Given the description of an element on the screen output the (x, y) to click on. 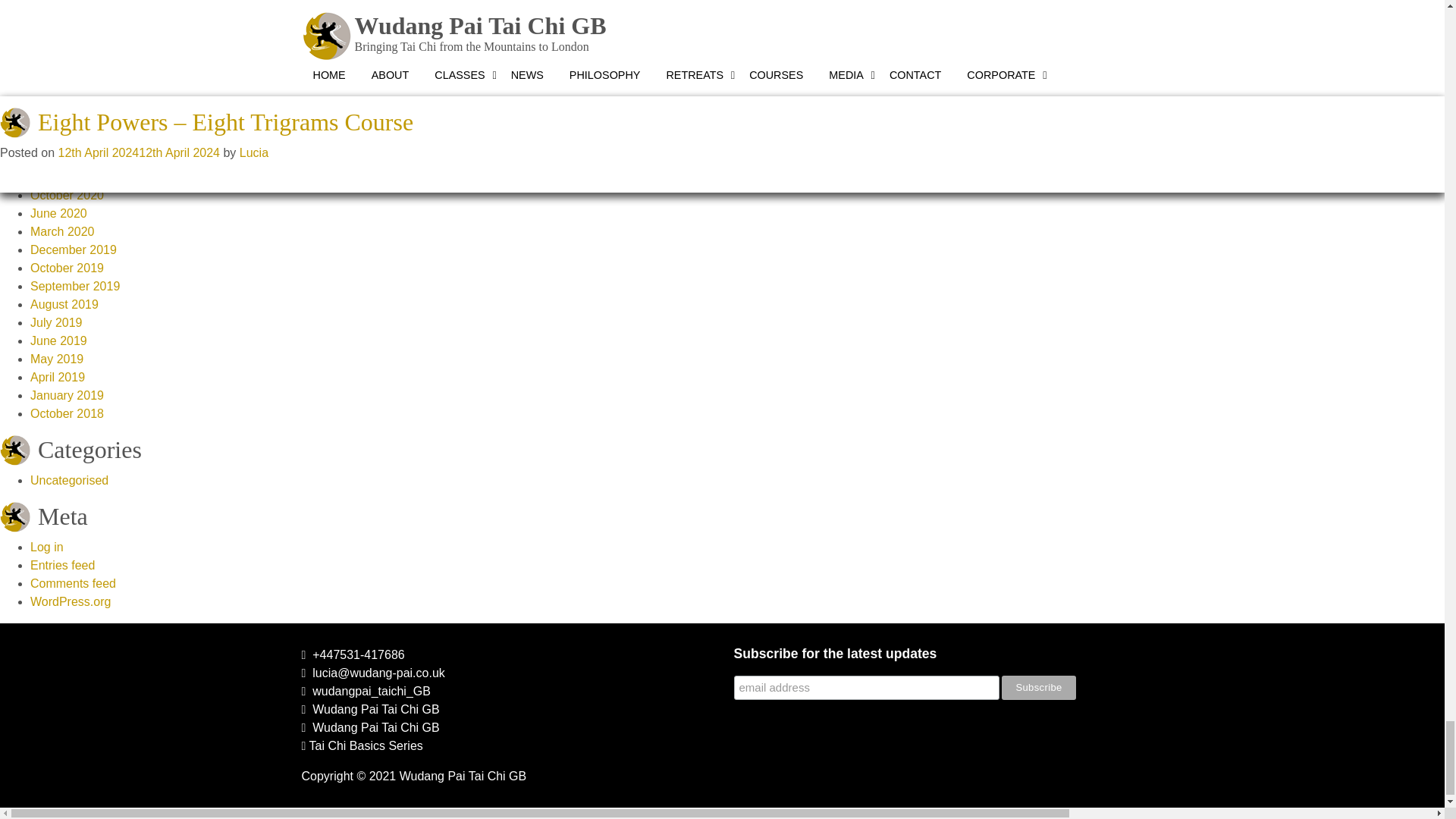
Subscribe (1038, 687)
